Given the description of an element on the screen output the (x, y) to click on. 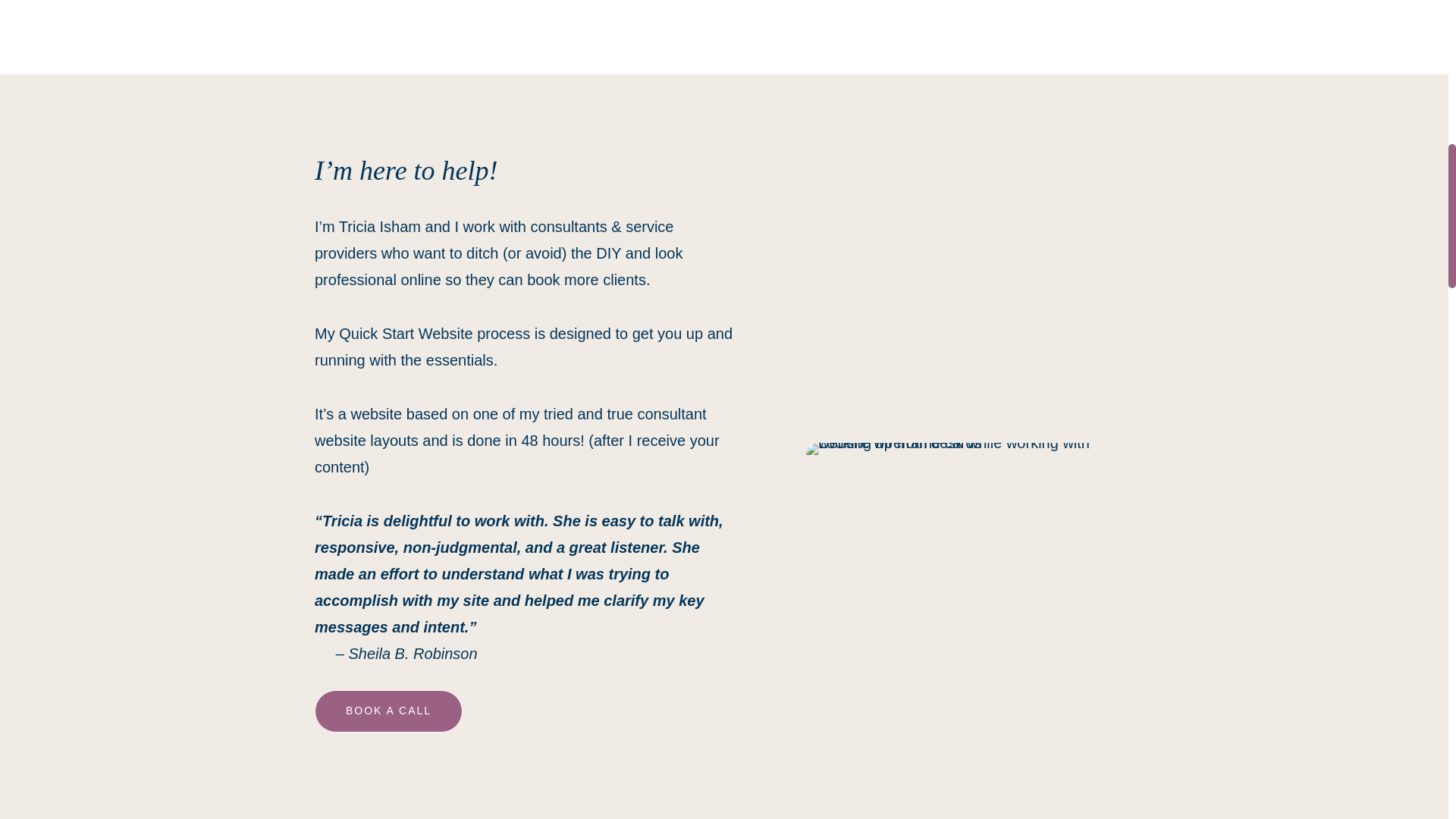
BOOK A CALL (388, 711)
